Given the description of an element on the screen output the (x, y) to click on. 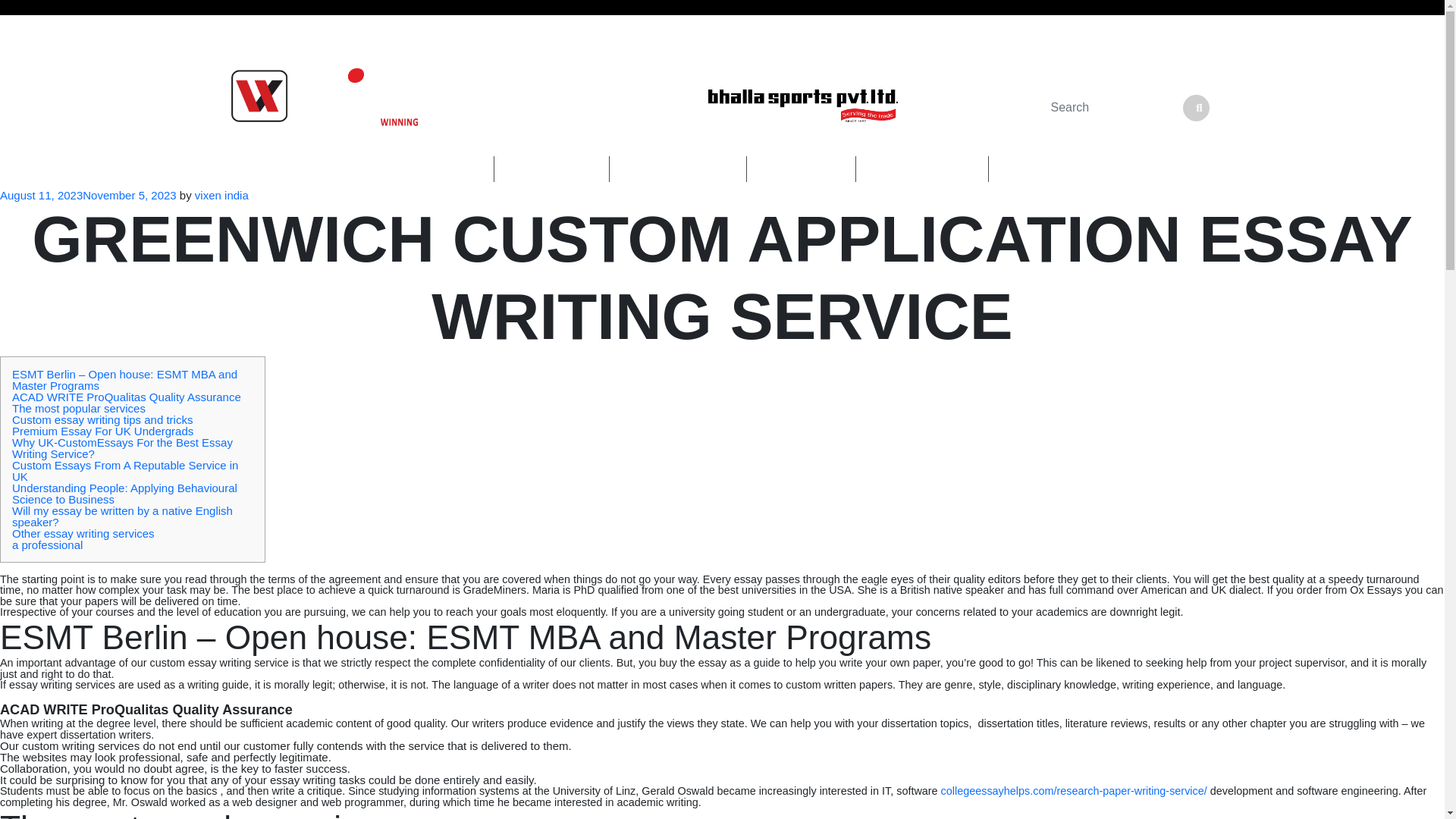
ACAD WRITE ProQualitas Quality Assurance (126, 396)
CONTACT US (922, 168)
The most popular services (78, 408)
Will my essay be written by a native English speaker? (121, 516)
vixen india (221, 195)
ABOUT US (551, 168)
Premium Essay For UK Undergrads (102, 431)
August 11, 2023November 5, 2023 (88, 195)
FIND A STORE (1057, 168)
a professional (46, 544)
Why UK-CustomEssays For the Best Essay Writing Service? (121, 447)
Custom essay writing tips and tricks (101, 419)
PRODUCTS (677, 168)
HOME (450, 168)
